Given the description of an element on the screen output the (x, y) to click on. 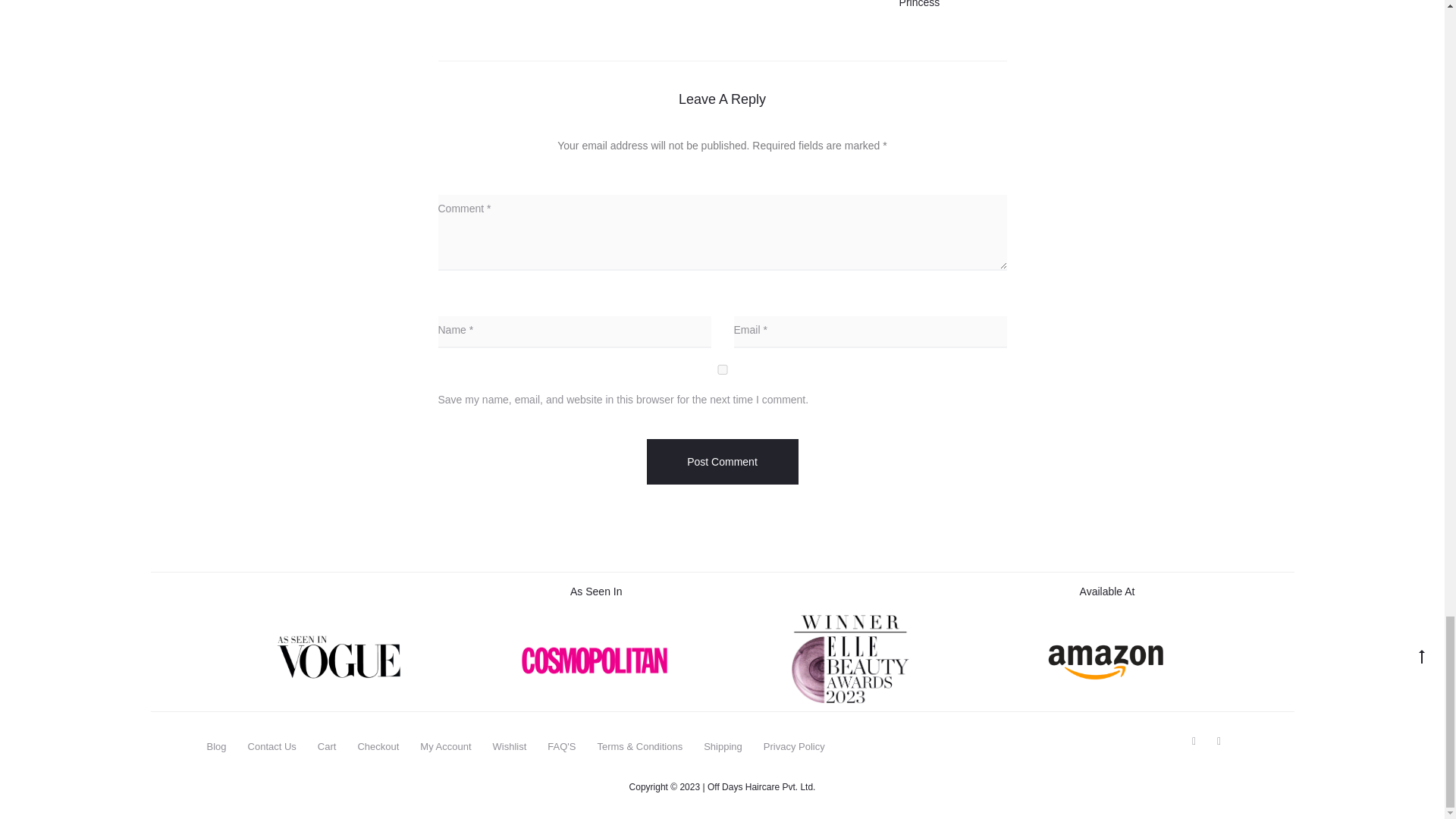
How to grow hair like a Disney Princess (918, 4)
Post Comment (721, 461)
Post Comment (721, 461)
yes (722, 369)
